Given the description of an element on the screen output the (x, y) to click on. 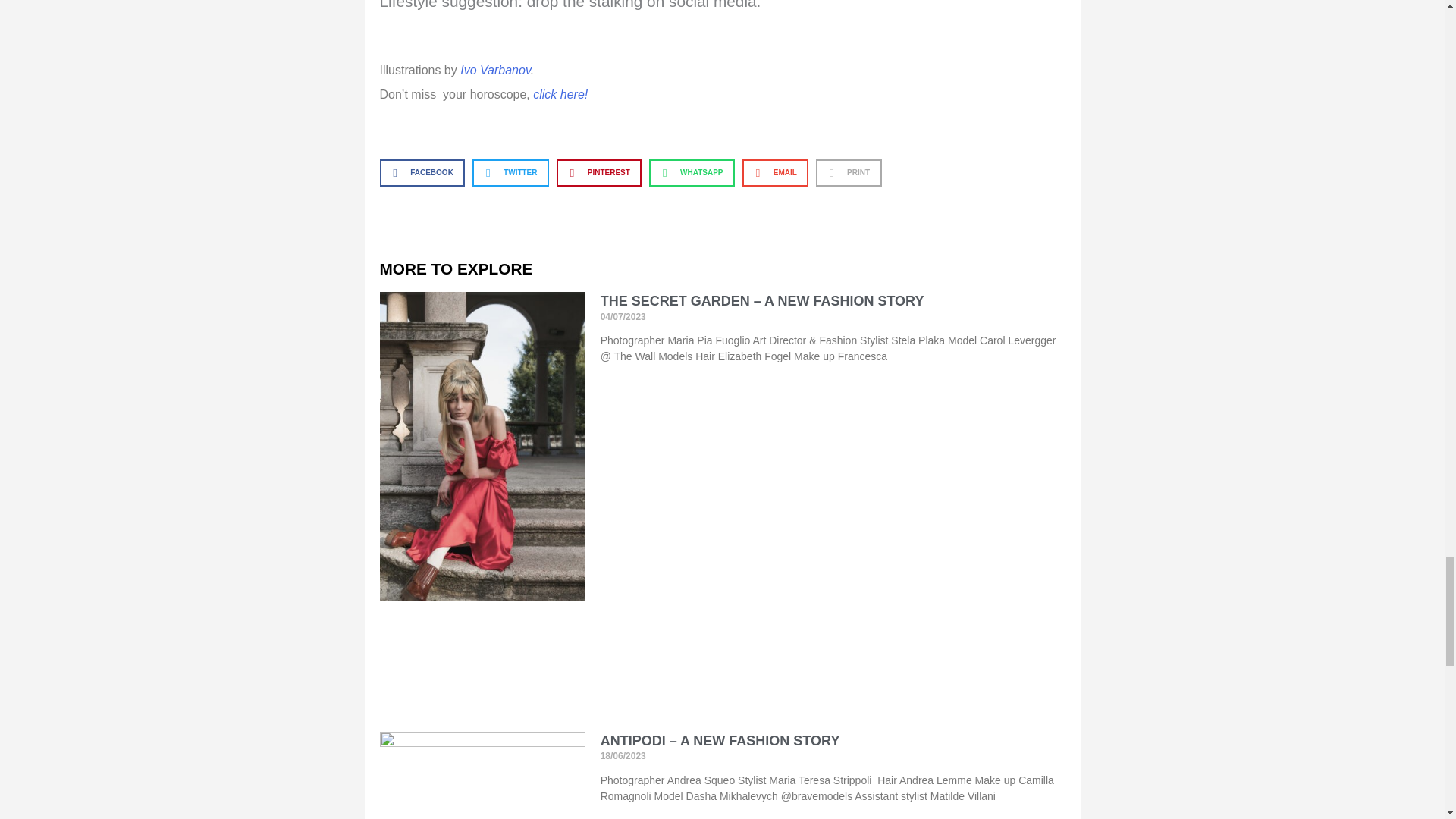
Ivo Varbanov (495, 69)
click here! (560, 93)
